Given the description of an element on the screen output the (x, y) to click on. 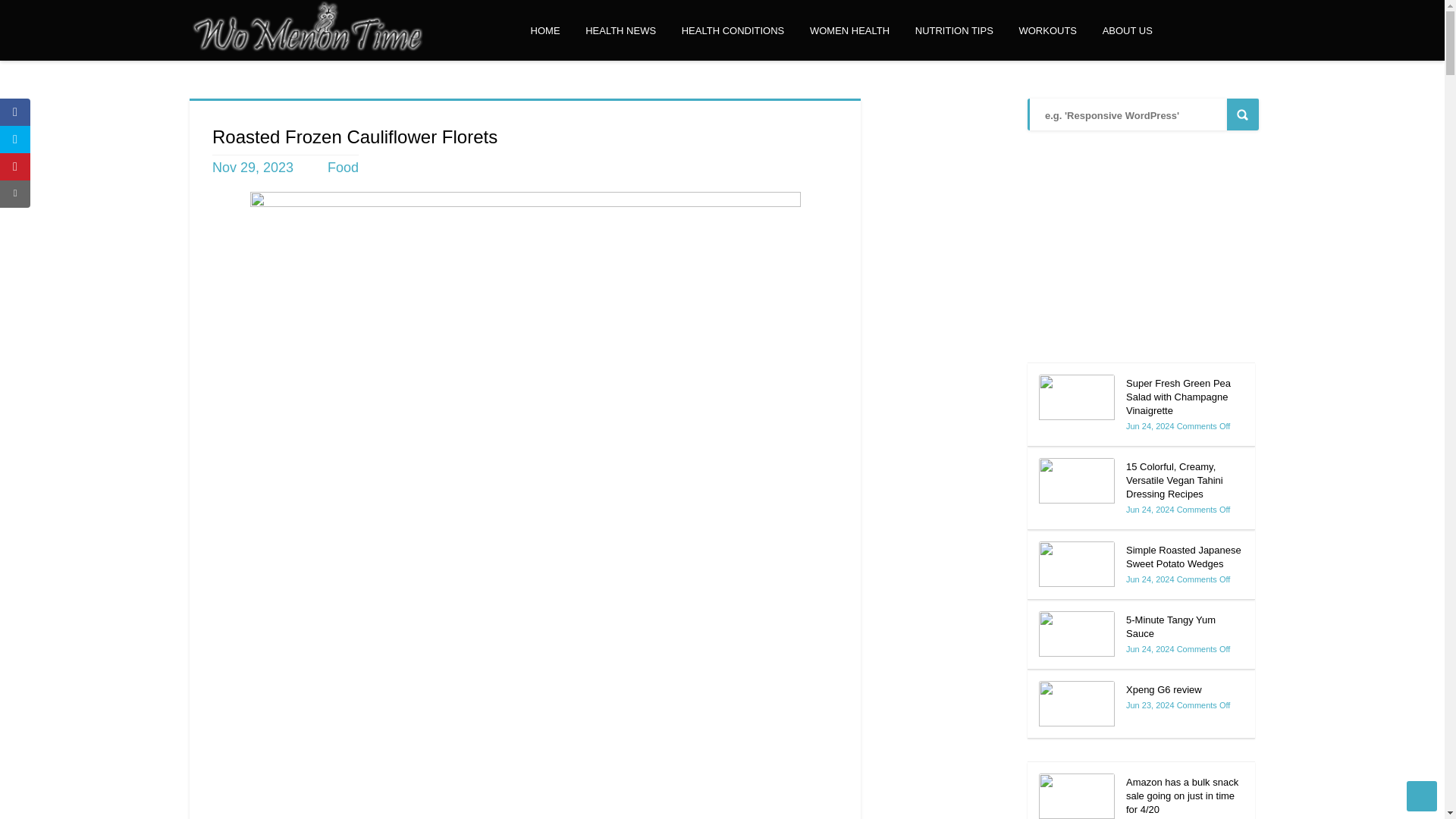
HEALTH NEWS (619, 30)
Food (342, 167)
WORKOUTS (1047, 30)
HEALTH CONDITIONS (732, 30)
ABOUT US (1126, 30)
NUTRITION TIPS (954, 30)
Search (1243, 114)
HOME (545, 30)
Search (1243, 114)
WOMEN HEALTH (849, 30)
